Given the description of an element on the screen output the (x, y) to click on. 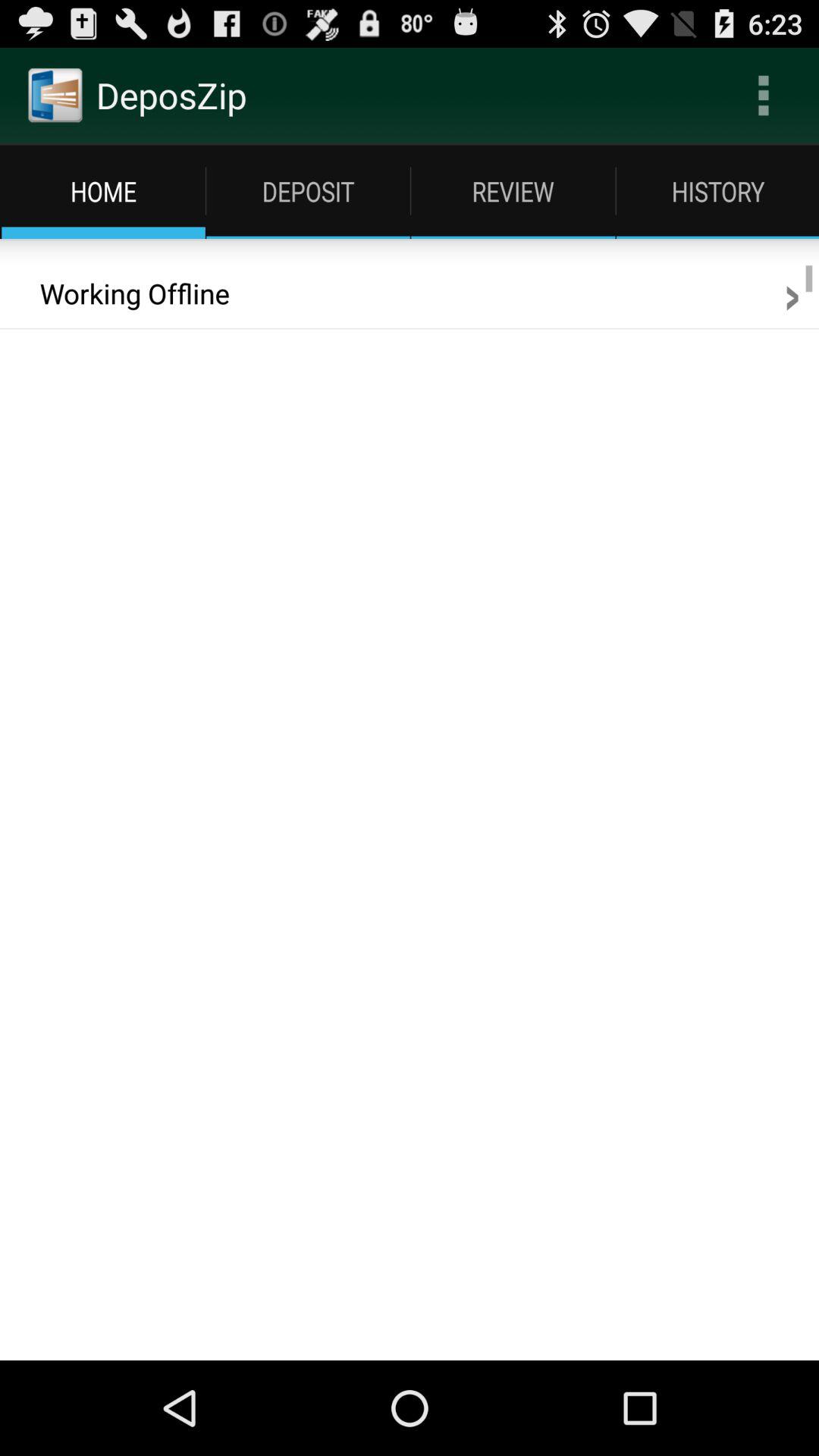
press working offline icon (124, 293)
